Given the description of an element on the screen output the (x, y) to click on. 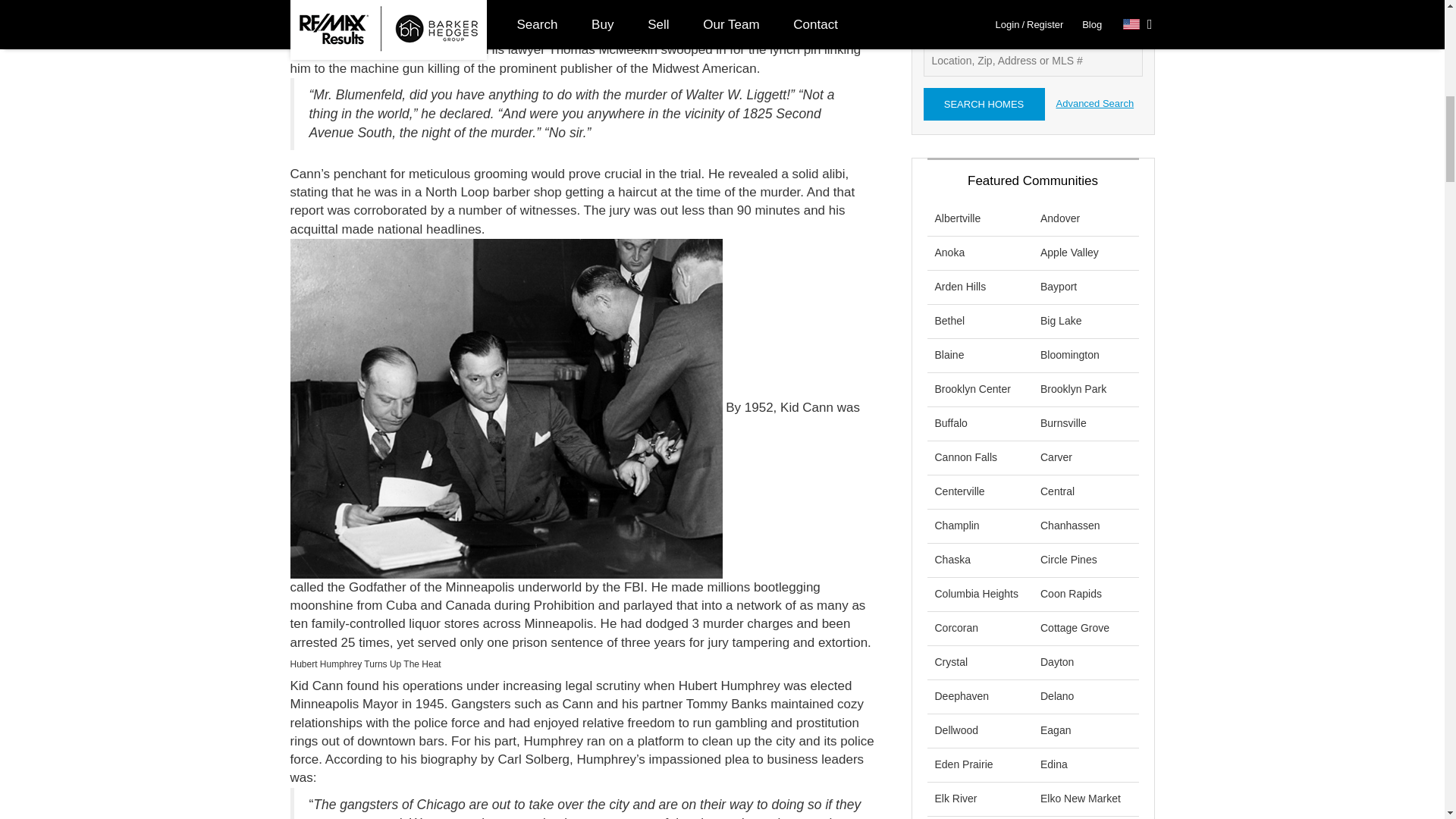
View Anoka (948, 252)
View Arden Hills (959, 286)
View Andover (1060, 218)
View Apple Valley (1070, 252)
View Albertville (956, 218)
